Given the description of an element on the screen output the (x, y) to click on. 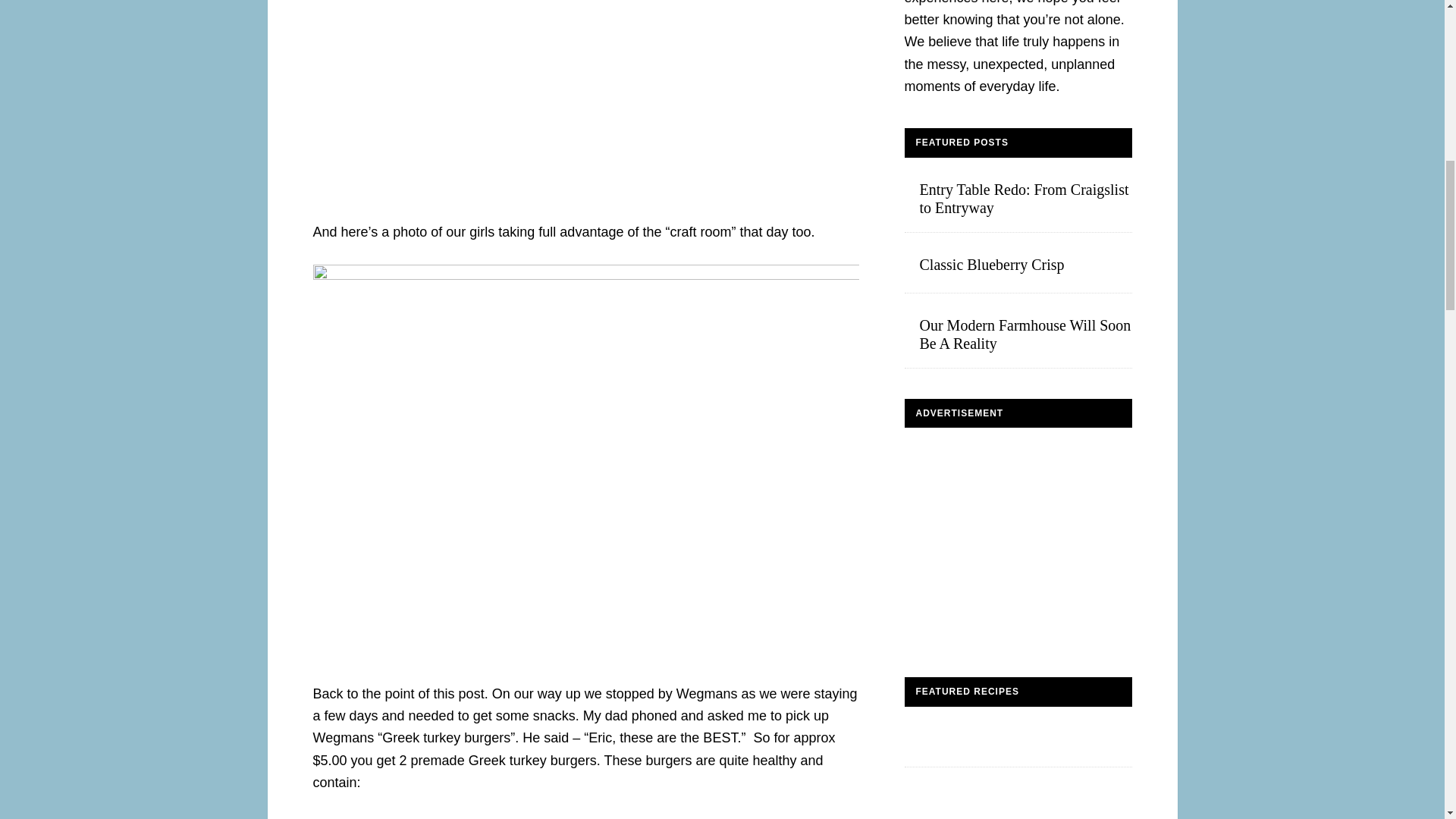
Entry Table Redo: From Craigslist to Entryway (1023, 198)
Classic Blueberry Crisp (991, 264)
Our Modern Farmhouse Will Soon Be A Reality (1024, 334)
